Given the description of an element on the screen output the (x, y) to click on. 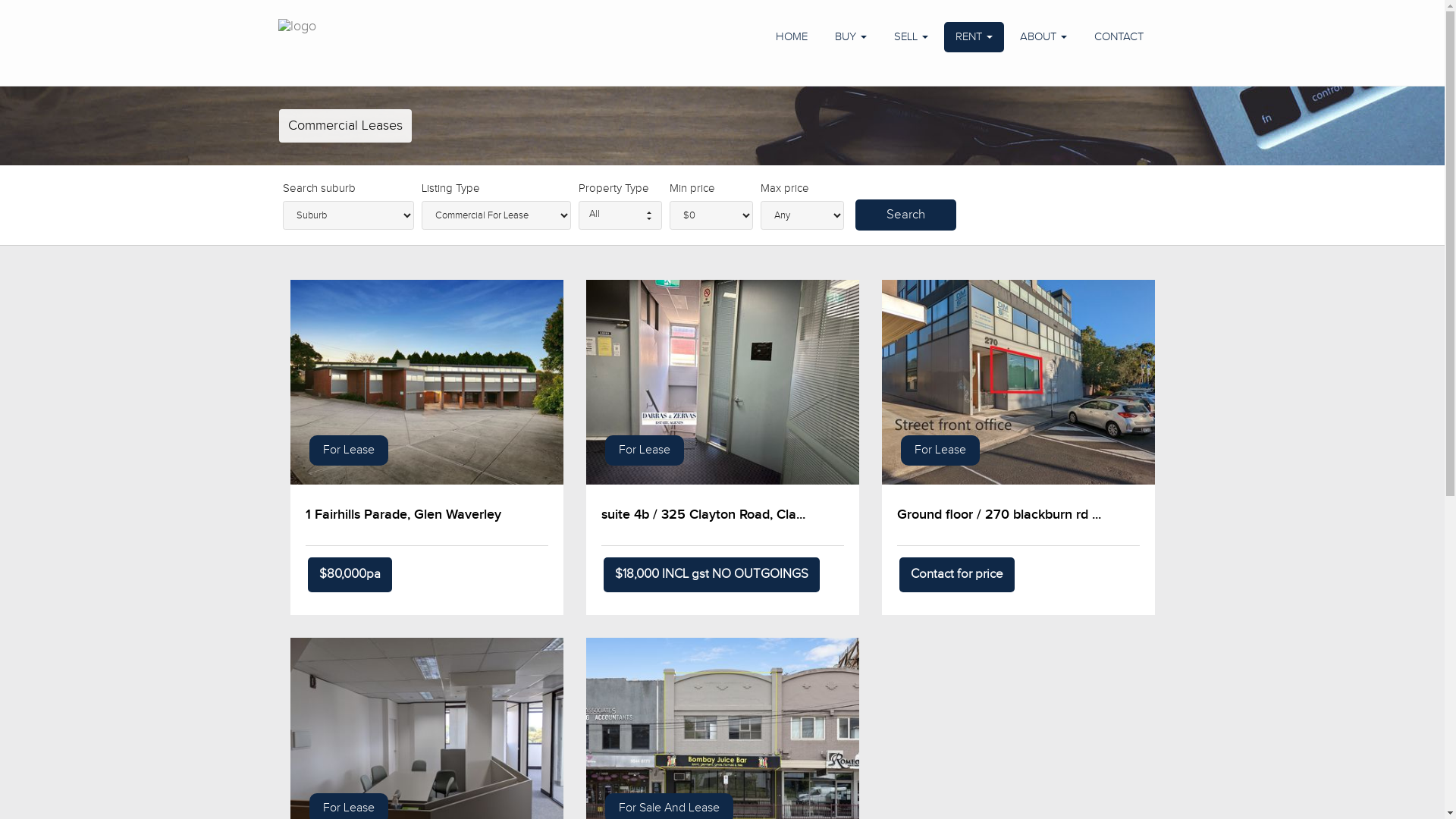
RENT Element type: text (973, 36)
For Lease Element type: text (939, 450)
For Lease Element type: text (425, 381)
All Element type: text (619, 214)
SELL Element type: text (910, 36)
CONTACT Element type: text (1118, 36)
Ground floor / 270 blackburn rd ... Element type: text (998, 514)
$80,000pa Element type: text (349, 574)
For Lease Element type: text (1017, 381)
ABOUT Element type: text (1043, 36)
For Lease Element type: text (721, 381)
suite 4b / 325 Clayton Road, Cla... Element type: text (702, 514)
HOME Element type: text (791, 36)
For Lease Element type: text (348, 450)
1 Fairhills Parade, Glen Waverley Element type: text (402, 514)
search Element type: text (905, 215)
Contact for price Element type: text (956, 574)
$18,000 INCL gst NO OUTGOINGS Element type: text (711, 574)
For Lease Element type: text (644, 450)
BUY Element type: text (850, 36)
